Given the description of an element on the screen output the (x, y) to click on. 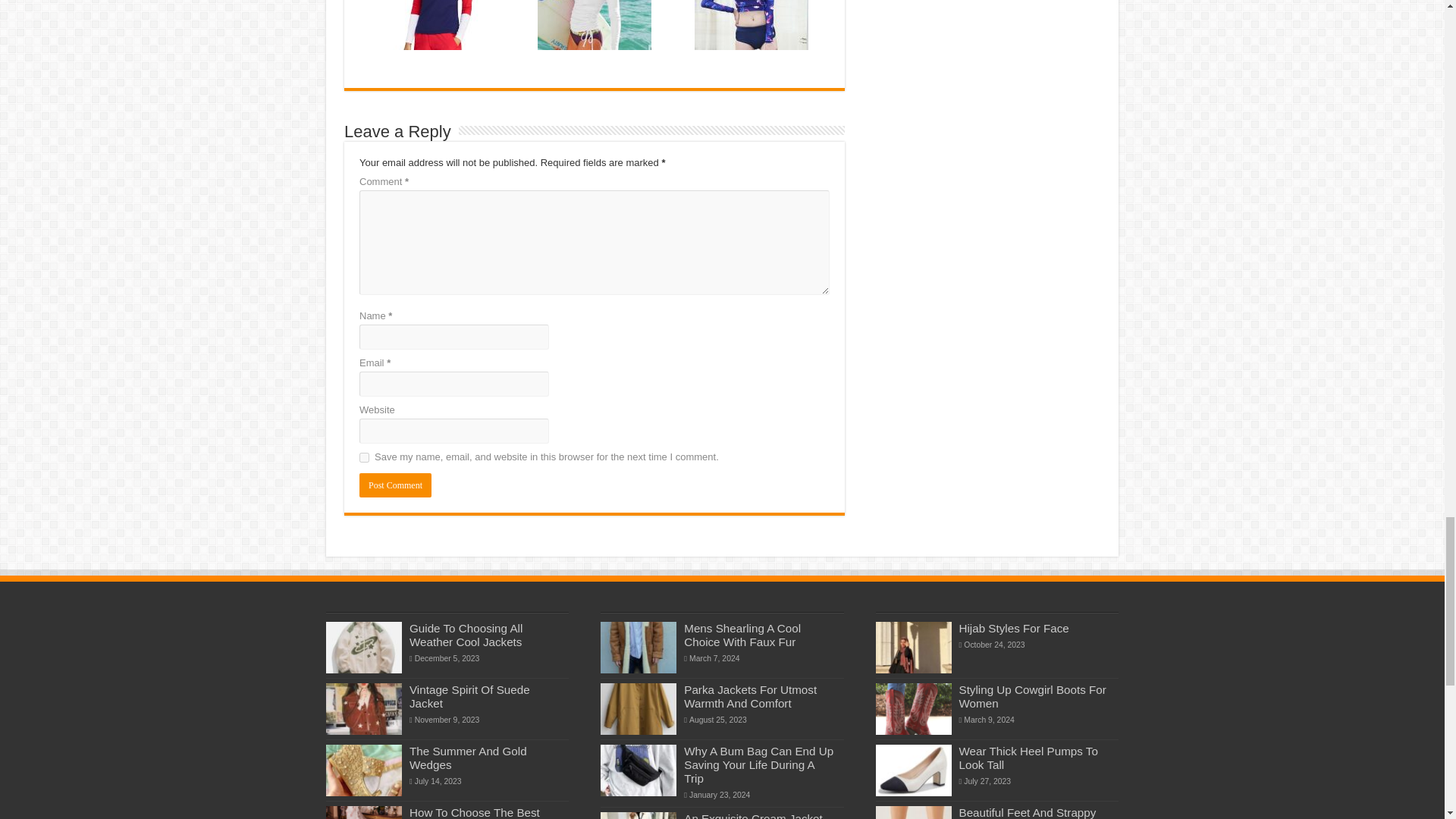
Post Comment (394, 485)
yes (364, 457)
